Given the description of an element on the screen output the (x, y) to click on. 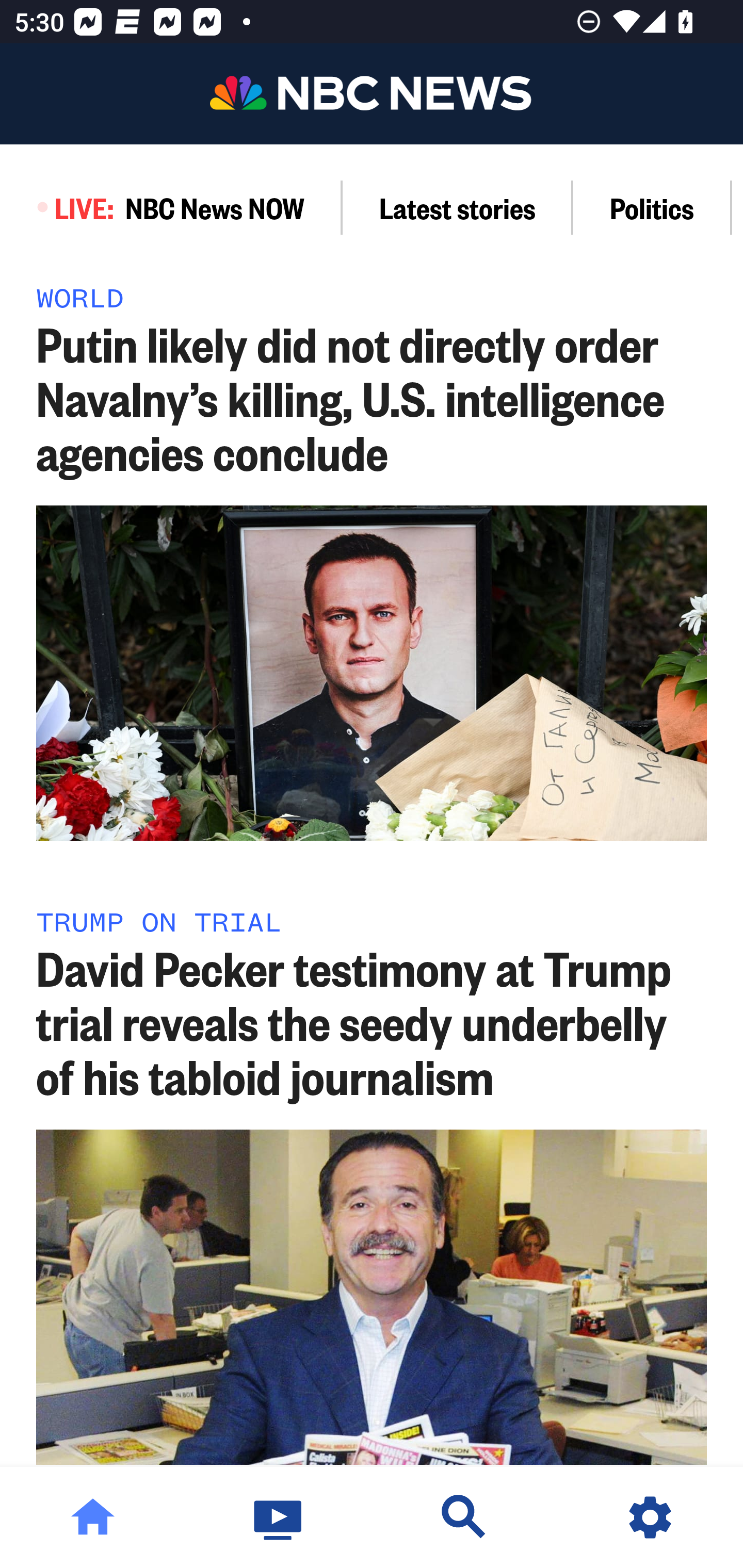
LIVE:  NBC News NOW (171, 207)
Latest stories Section,Latest stories (457, 207)
Politics Section,Politics (652, 207)
Watch (278, 1517)
Discover (464, 1517)
Settings (650, 1517)
